Given the description of an element on the screen output the (x, y) to click on. 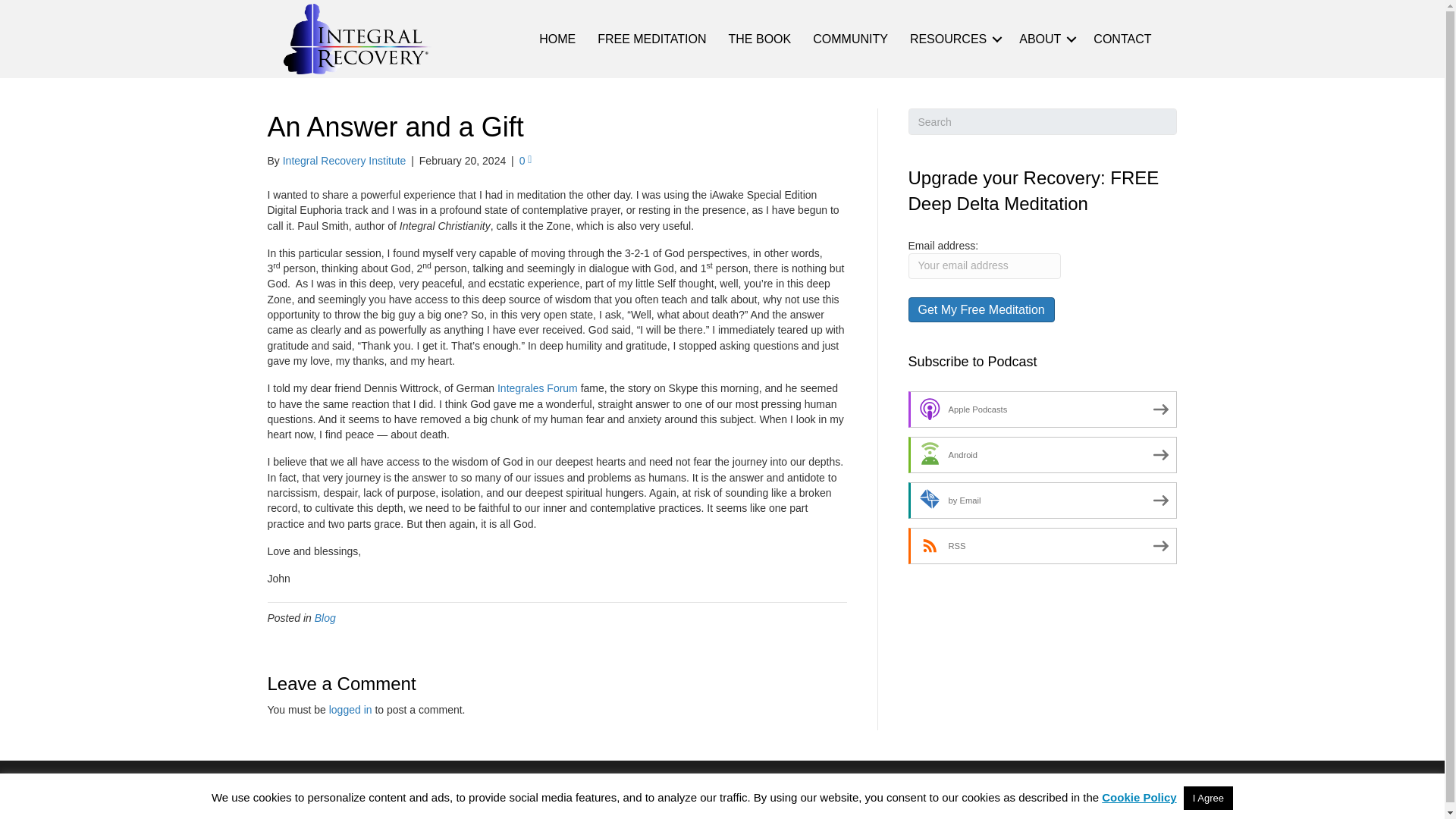
Integrales Forum (537, 387)
Android (1042, 454)
by Email (1042, 500)
Apple Podcasts (1042, 409)
Subscribe by Email (1042, 500)
Privacy Policy (1018, 792)
RSS (1042, 545)
HOME (557, 39)
Cookie Policy (1114, 792)
Get My Free Meditation (981, 309)
